Given the description of an element on the screen output the (x, y) to click on. 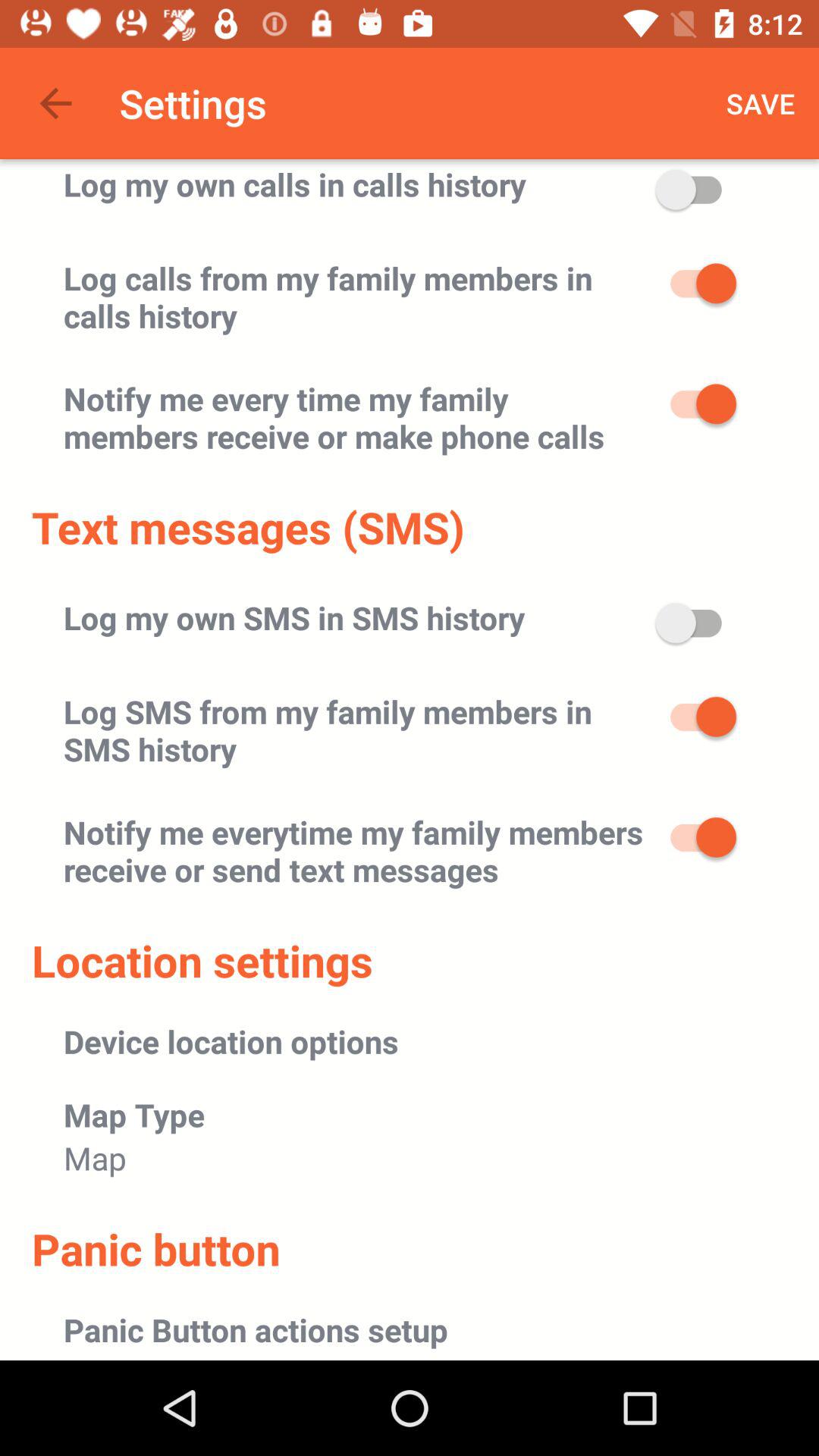
select location settings icon (202, 960)
